Given the description of an element on the screen output the (x, y) to click on. 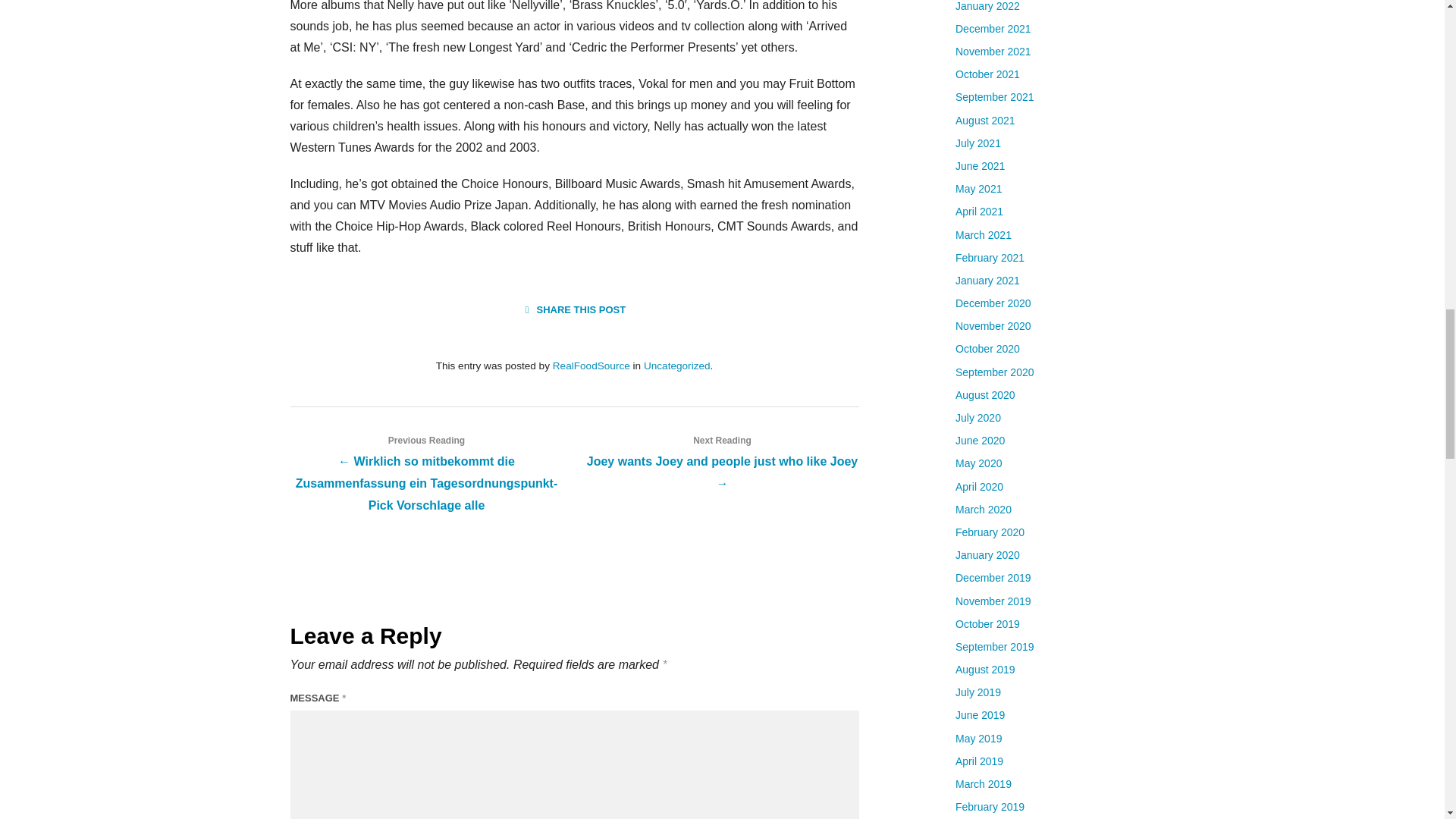
SHARE THIS POST (574, 309)
Uncategorized (676, 365)
View all posts by RealFoodSource (591, 365)
RealFoodSource (591, 365)
